Given the description of an element on the screen output the (x, y) to click on. 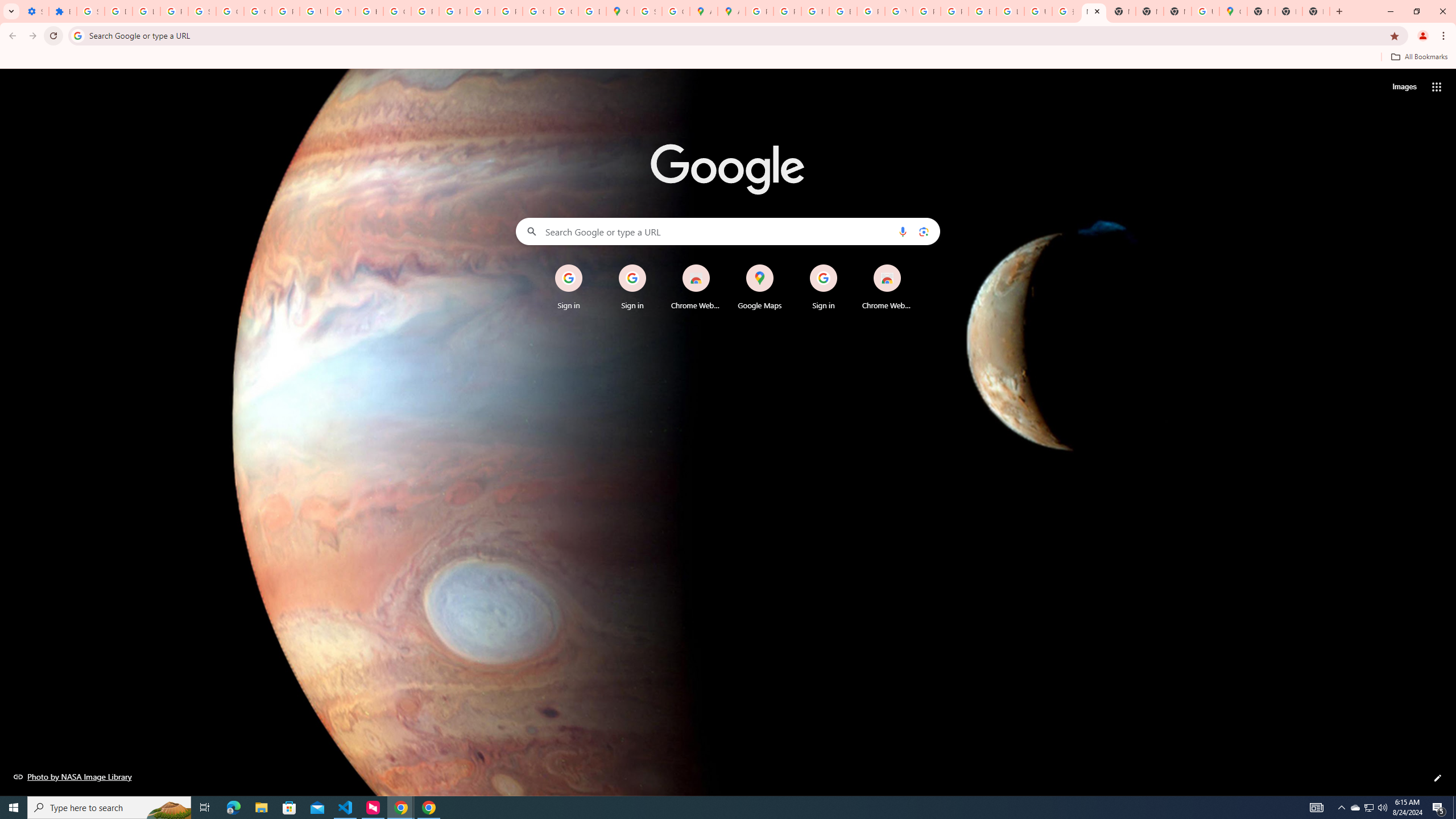
Google Account Help (229, 11)
Search Google or type a URL (727, 230)
Delete photos & videos - Computer - Google Photos Help (118, 11)
New Tab (1093, 11)
New Tab (1316, 11)
